Given the description of an element on the screen output the (x, y) to click on. 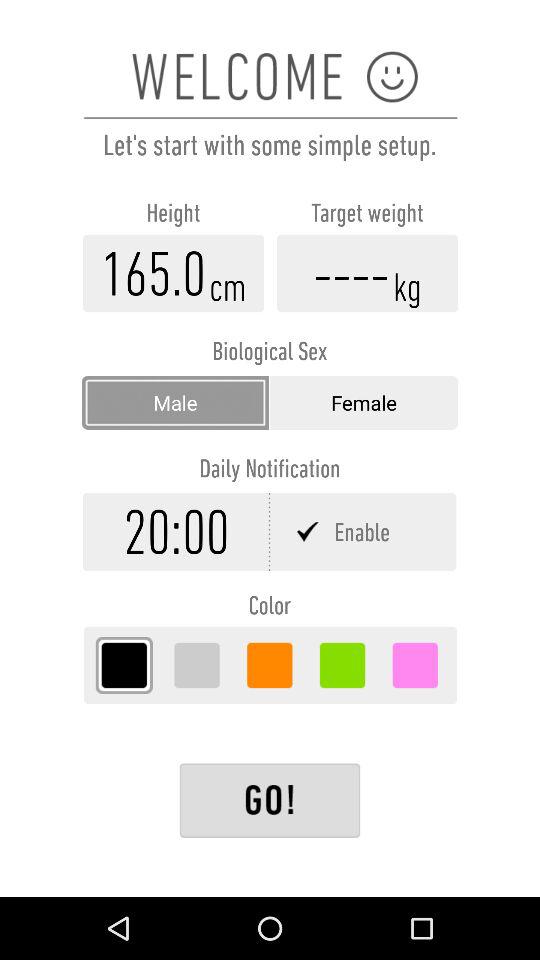
type target weight (367, 273)
